Given the description of an element on the screen output the (x, y) to click on. 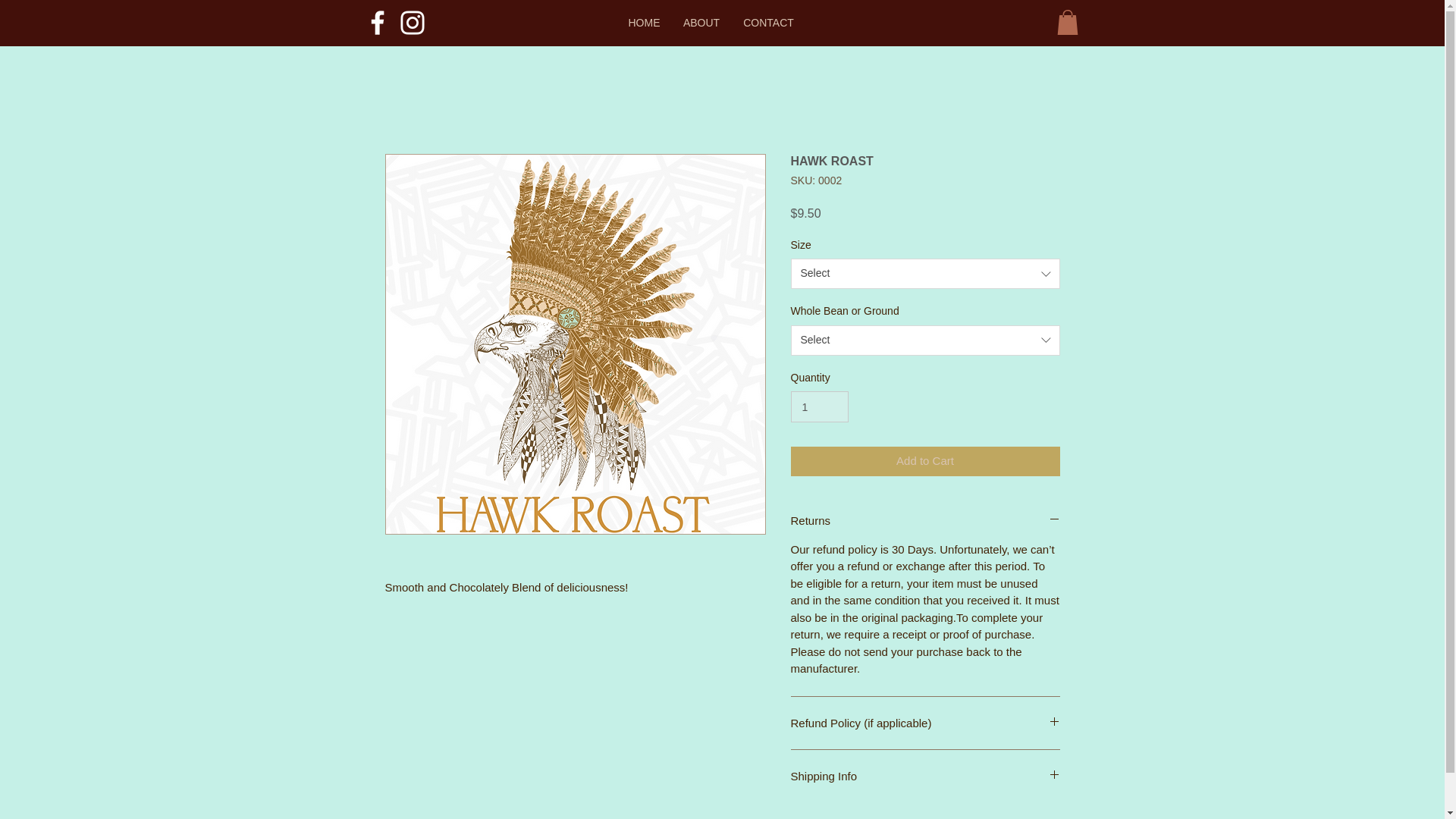
CONTACT (767, 22)
Shipping Info (924, 774)
ABOUT (701, 22)
Add to Cart (924, 460)
1 (818, 406)
Select (924, 340)
HOME (644, 22)
Returns (924, 520)
Select (924, 273)
